Given the description of an element on the screen output the (x, y) to click on. 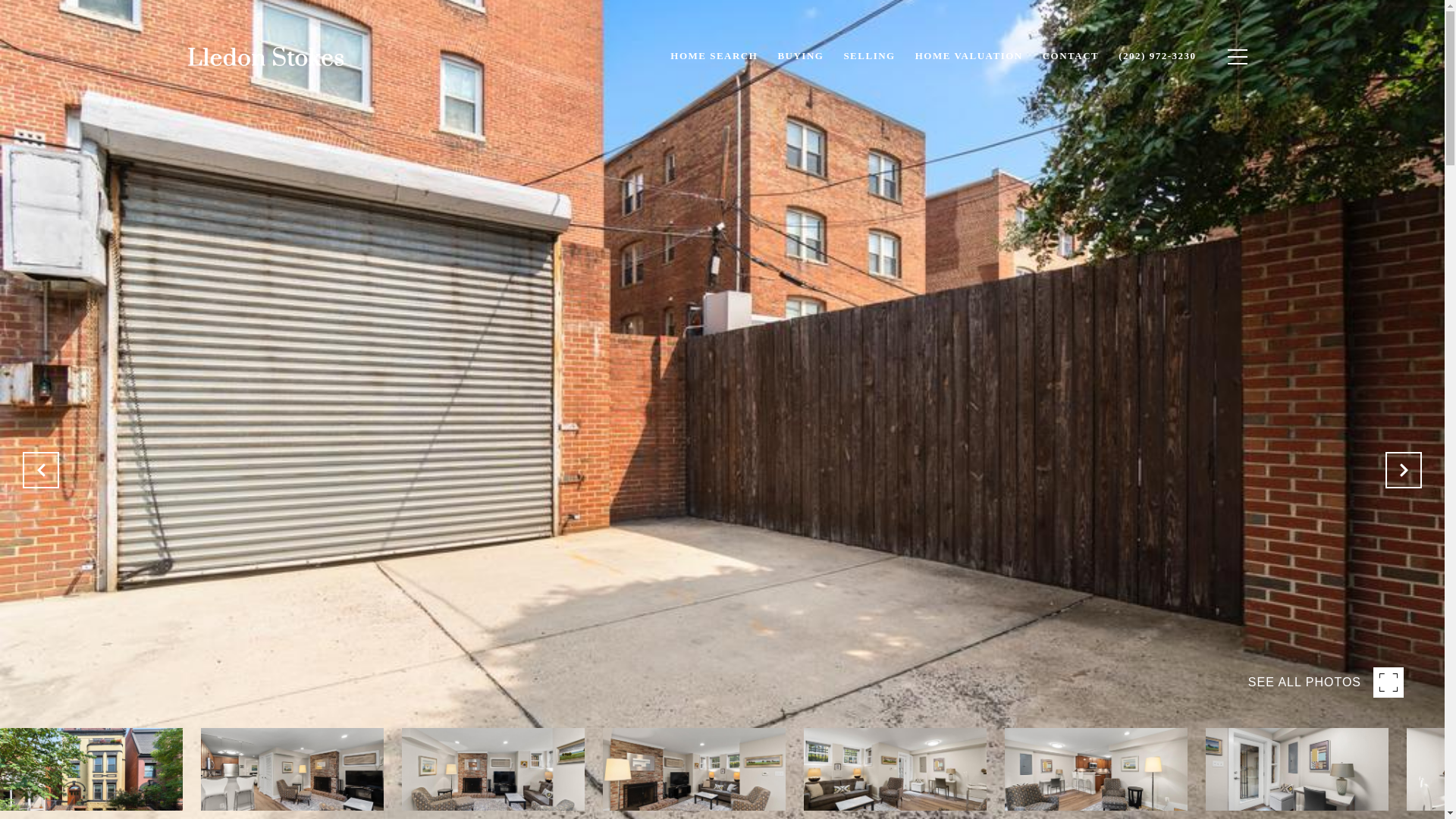
HOME VALUATION (968, 55)
CONTACT (1070, 55)
HOME SEARCH (714, 55)
SELLING (868, 55)
BUYING (799, 55)
